Given the description of an element on the screen output the (x, y) to click on. 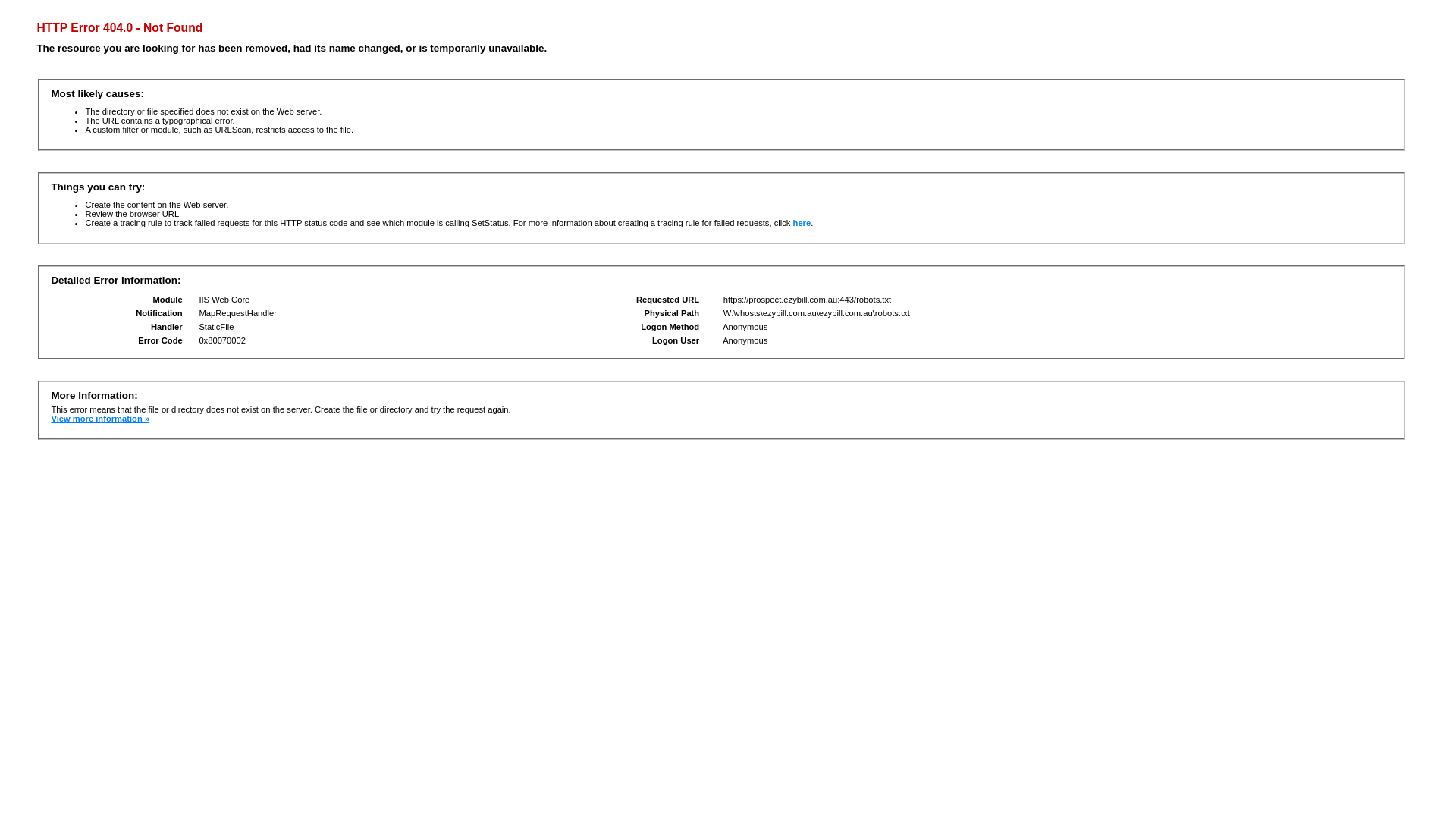
here Element type: text (802, 222)
